Given the description of an element on the screen output the (x, y) to click on. 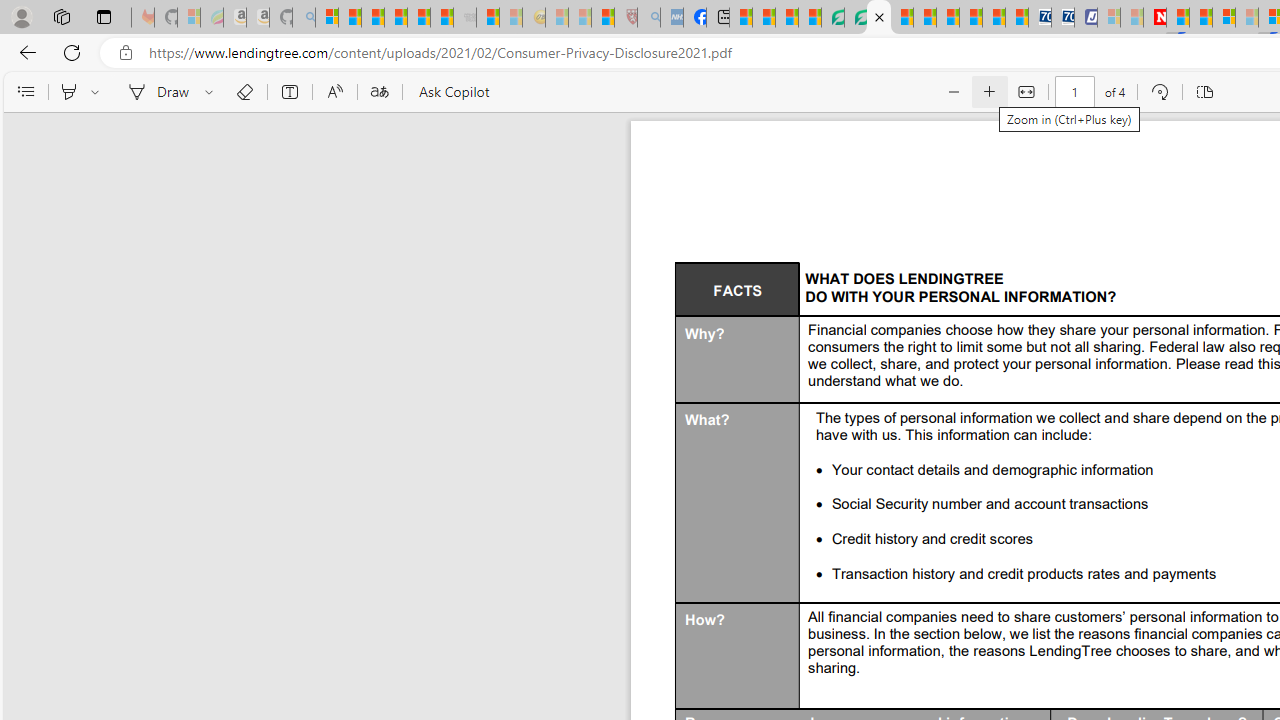
Read aloud (334, 92)
Contents (25, 92)
Ask Copilot (452, 92)
Terms of Use Agreement (855, 17)
Select a highlight color (98, 92)
Zoom out (Ctrl+Minus key) (952, 92)
Draw (155, 92)
Combat Siege - Sleeping (465, 17)
Translate (379, 92)
